Given the description of an element on the screen output the (x, y) to click on. 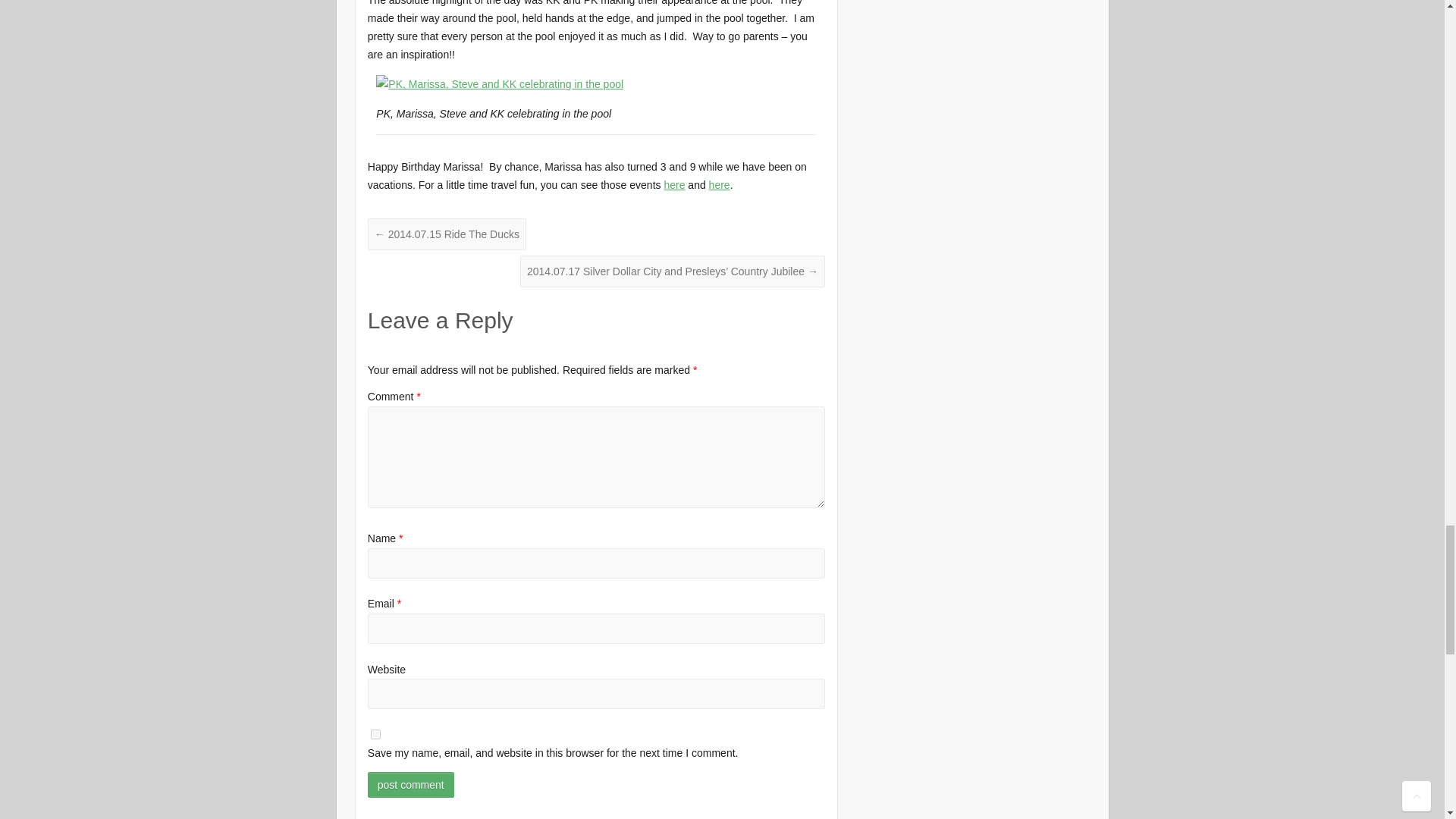
Post Comment (411, 784)
here (673, 184)
Post Comment (411, 784)
here (719, 184)
yes (375, 734)
